Given the description of an element on the screen output the (x, y) to click on. 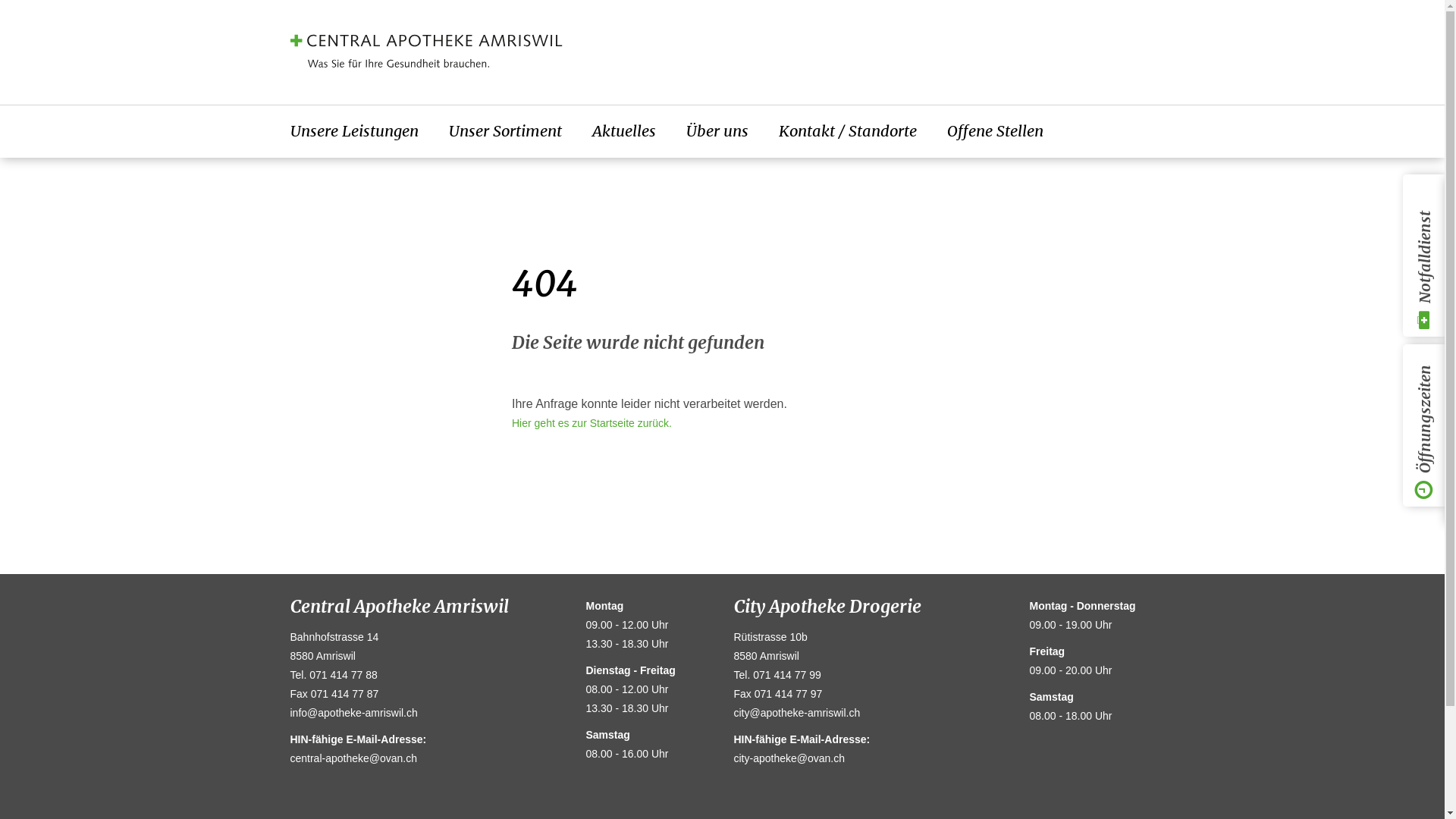
Aktuelles Element type: text (623, 131)
Unsere Leistungen Element type: text (353, 131)
Unser Sortiment Element type: text (504, 131)
Offene Stellen Element type: text (994, 131)
central-apotheke@ovan.ch Element type: text (353, 767)
city-apotheke@ovan.ch Element type: text (789, 767)
info@apotheke-amriswil.ch Element type: text (353, 712)
Kontakt / Standorte Element type: text (847, 131)
Central Apotheke Element type: text (425, 50)
Amriville Apotheke Element type: text (684, 50)
city@apotheke-amriswil.ch Element type: text (797, 712)
